Given the description of an element on the screen output the (x, y) to click on. 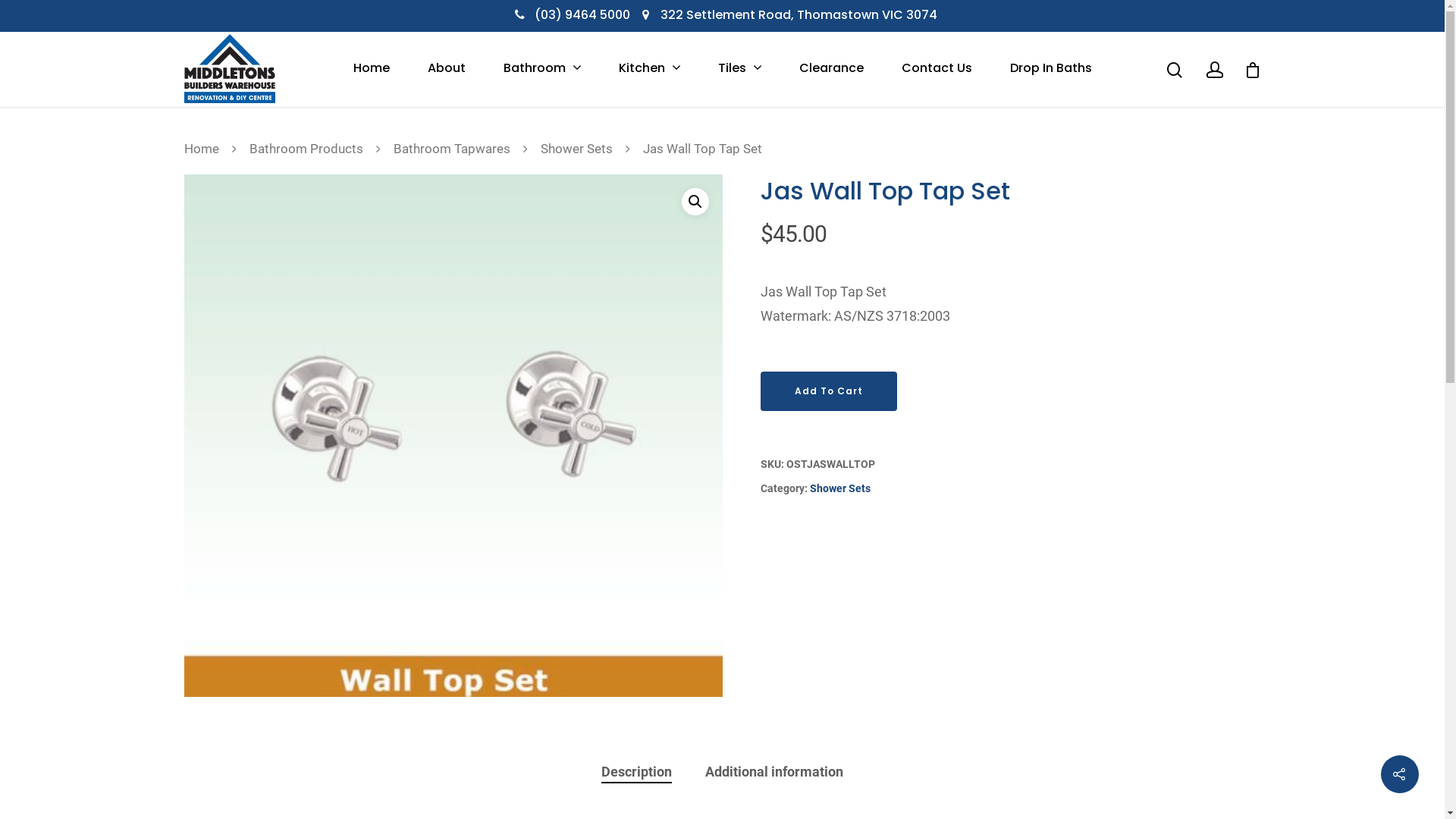
Contact Us Element type: text (935, 67)
(03) 9464 5000 Element type: text (582, 14)
Clearance Element type: text (831, 67)
Add To Cart Element type: text (827, 391)
Bathroom Element type: text (541, 67)
Kitchen Element type: text (649, 67)
Bathroom Products Element type: text (305, 148)
Home Element type: text (200, 148)
Shower Sets Element type: text (839, 488)
Shower Sets Element type: text (575, 148)
Tiles Element type: text (738, 67)
Home Element type: text (371, 67)
About Element type: text (446, 67)
Bathroom Tapwares Element type: text (450, 148)
Drop In Baths Element type: text (1051, 67)
Description Element type: text (635, 772)
Additional information Element type: text (774, 772)
wall_20top_20set Element type: hover (452, 435)
